Given the description of an element on the screen output the (x, y) to click on. 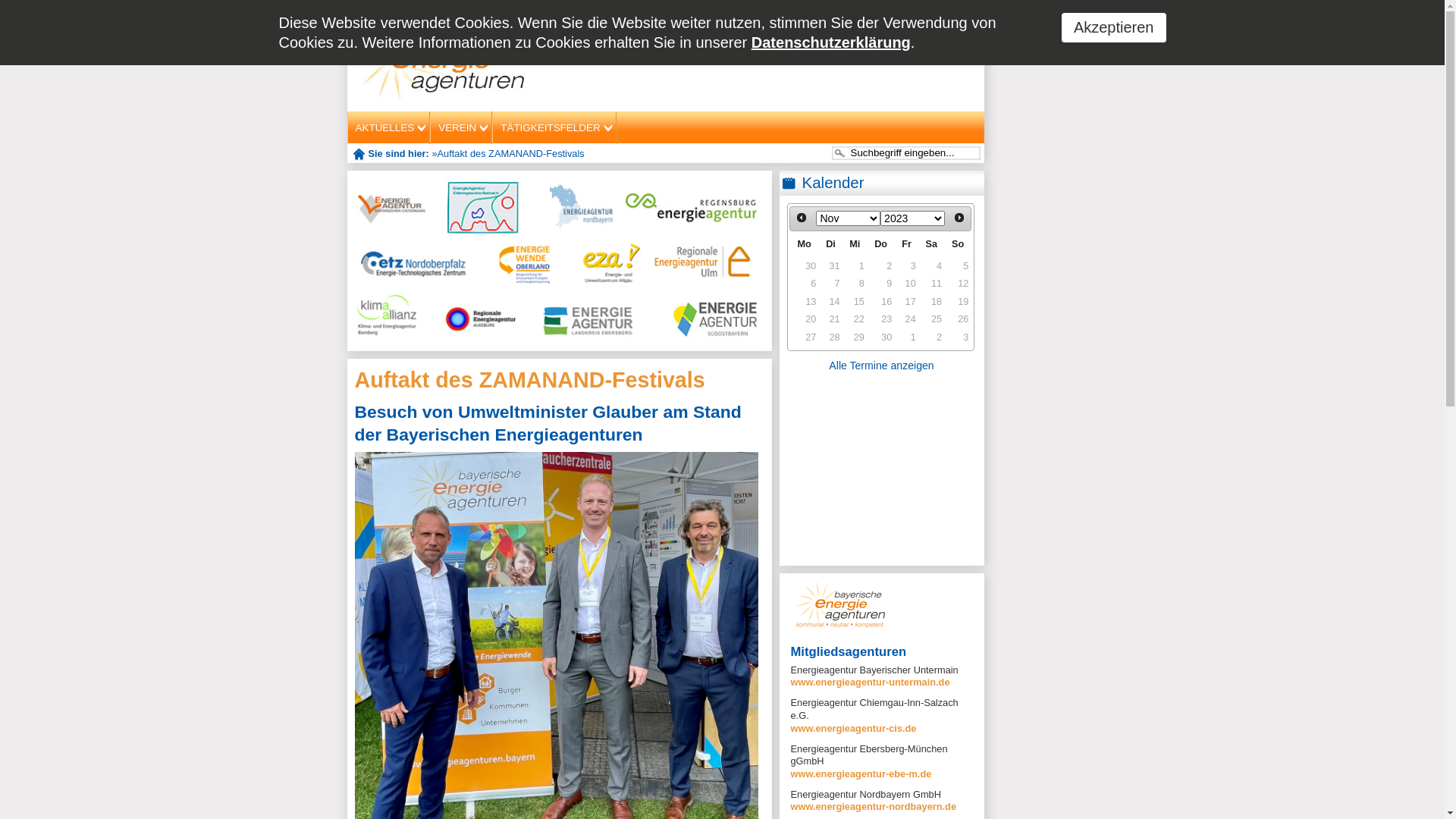
www.energieagentur-cis.de Element type: text (853, 728)
suchen Element type: hover (839, 153)
www.energieagentur-untermain.de Element type: text (869, 681)
Seitenkasten Element type: hover (840, 603)
Kontakt Element type: text (926, 24)
Datenschutz Element type: text (875, 24)
VEREIN Element type: text (460, 127)
www.energieagentur-ebe-m.de Element type: text (860, 773)
AKTUELLES Element type: text (388, 127)
Akzeptieren Element type: text (1113, 27)
Login Element type: text (828, 24)
vor > Element type: text (959, 217)
Alle Termine anzeigen Element type: text (881, 365)
YouTube video player Element type: hover (881, 470)
Bayerische Energieagenturen Element type: hover (439, 59)
Twitter Element type: text (965, 25)
www.energieagentur-nordbayern.de Element type: text (873, 806)
